Given the description of an element on the screen output the (x, y) to click on. 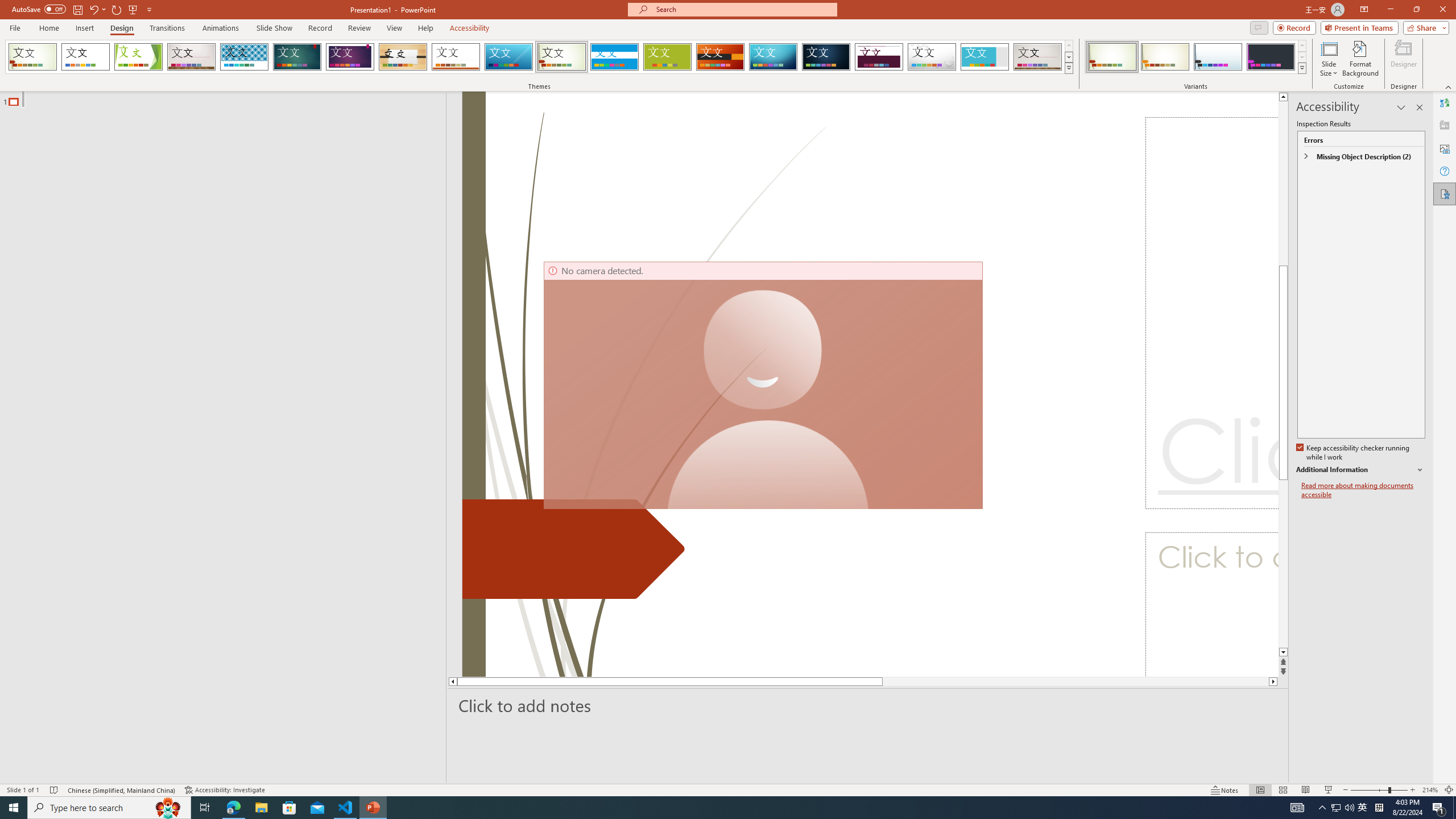
Gallery (1037, 56)
Subtitle TextBox (1211, 604)
AutomationID: ThemeVariantsGallery (1195, 56)
Wisp Variant 1 (1112, 56)
Page up (1283, 266)
Retrospect (455, 56)
